Given the description of an element on the screen output the (x, y) to click on. 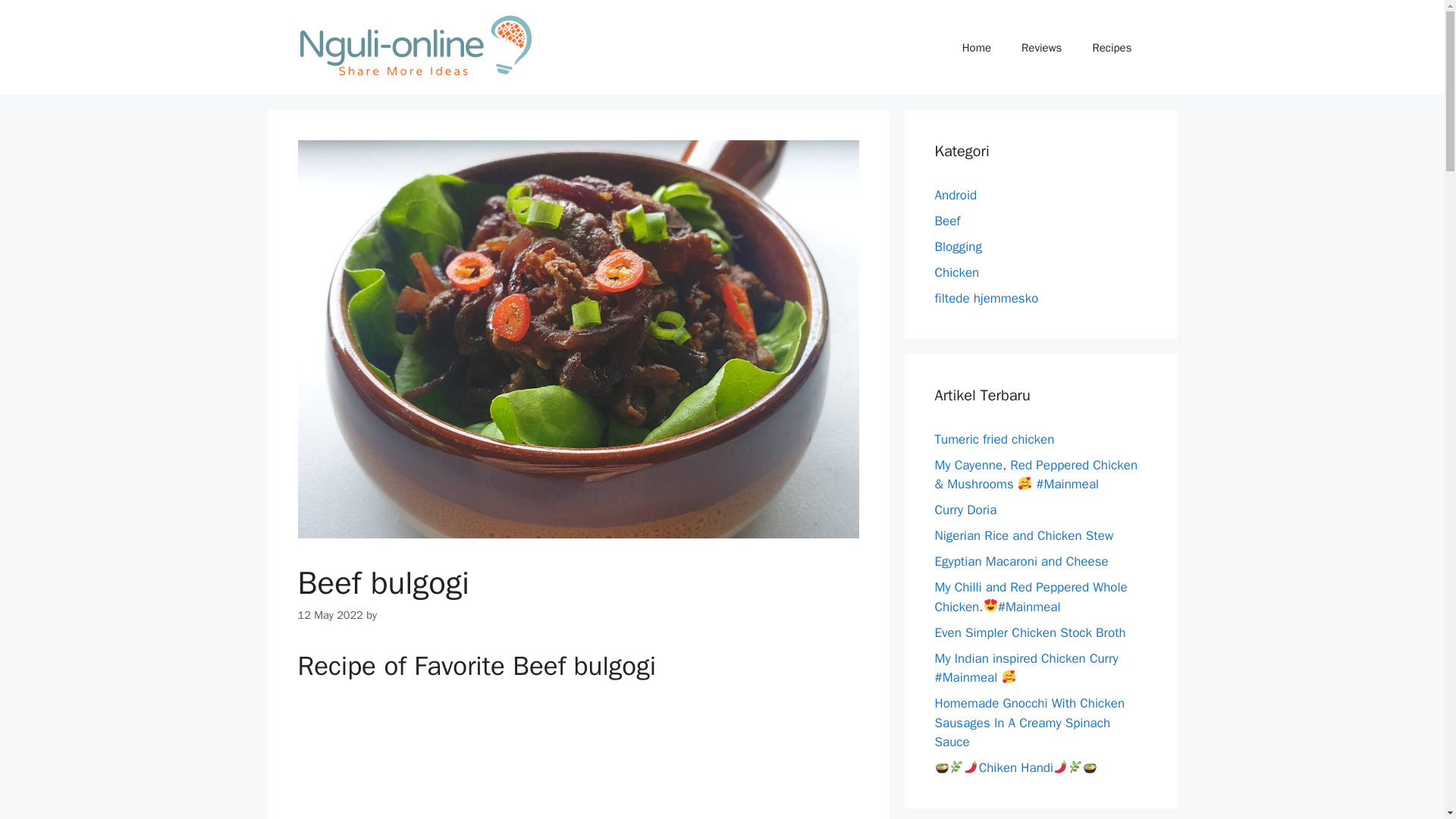
Recipes (1112, 46)
Beef (946, 220)
Nigerian Rice and Chicken Stew (1023, 535)
Egyptian Macaroni and Cheese (1021, 561)
Curry Doria (964, 509)
Chicken (956, 272)
Blogging (957, 246)
Android (955, 195)
Advertisement (578, 757)
Reviews (1041, 46)
filtede hjemmesko (986, 298)
Chiken Handi (1015, 767)
Even Simpler Chicken Stock Broth (1029, 632)
Tumeric fried chicken (994, 438)
